Given the description of an element on the screen output the (x, y) to click on. 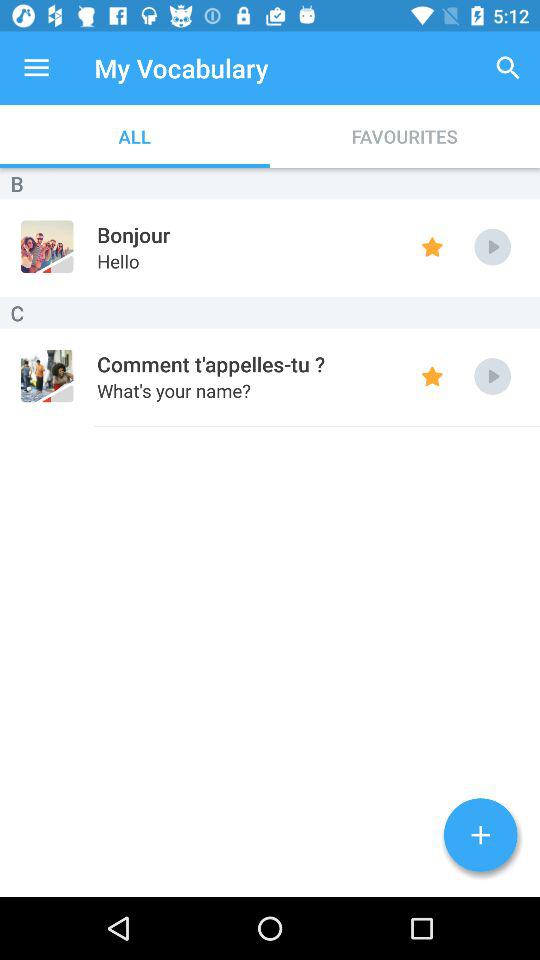
click item next to my vocabulary (508, 67)
